Given the description of an element on the screen output the (x, y) to click on. 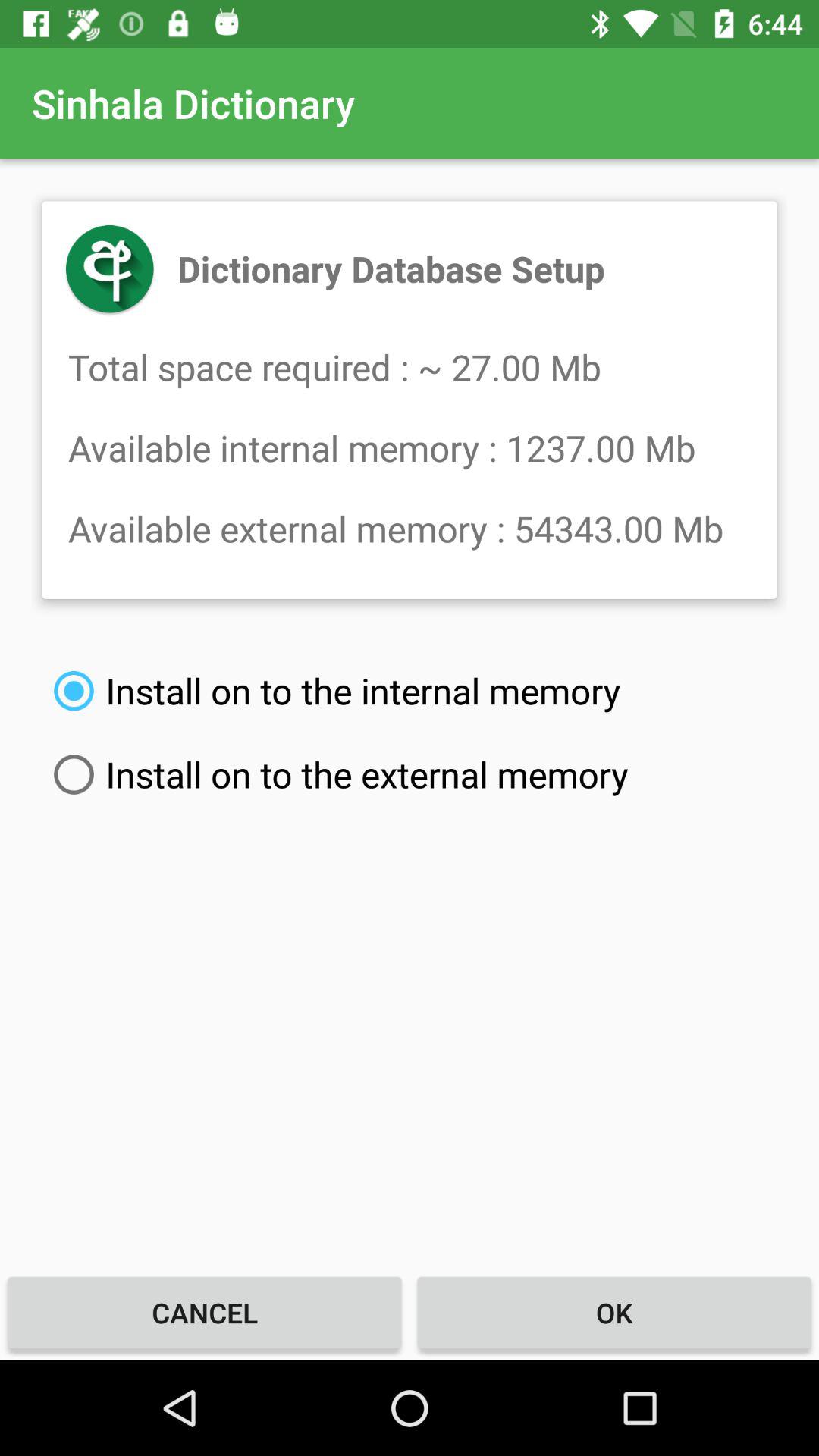
launch item to the right of cancel icon (614, 1312)
